Given the description of an element on the screen output the (x, y) to click on. 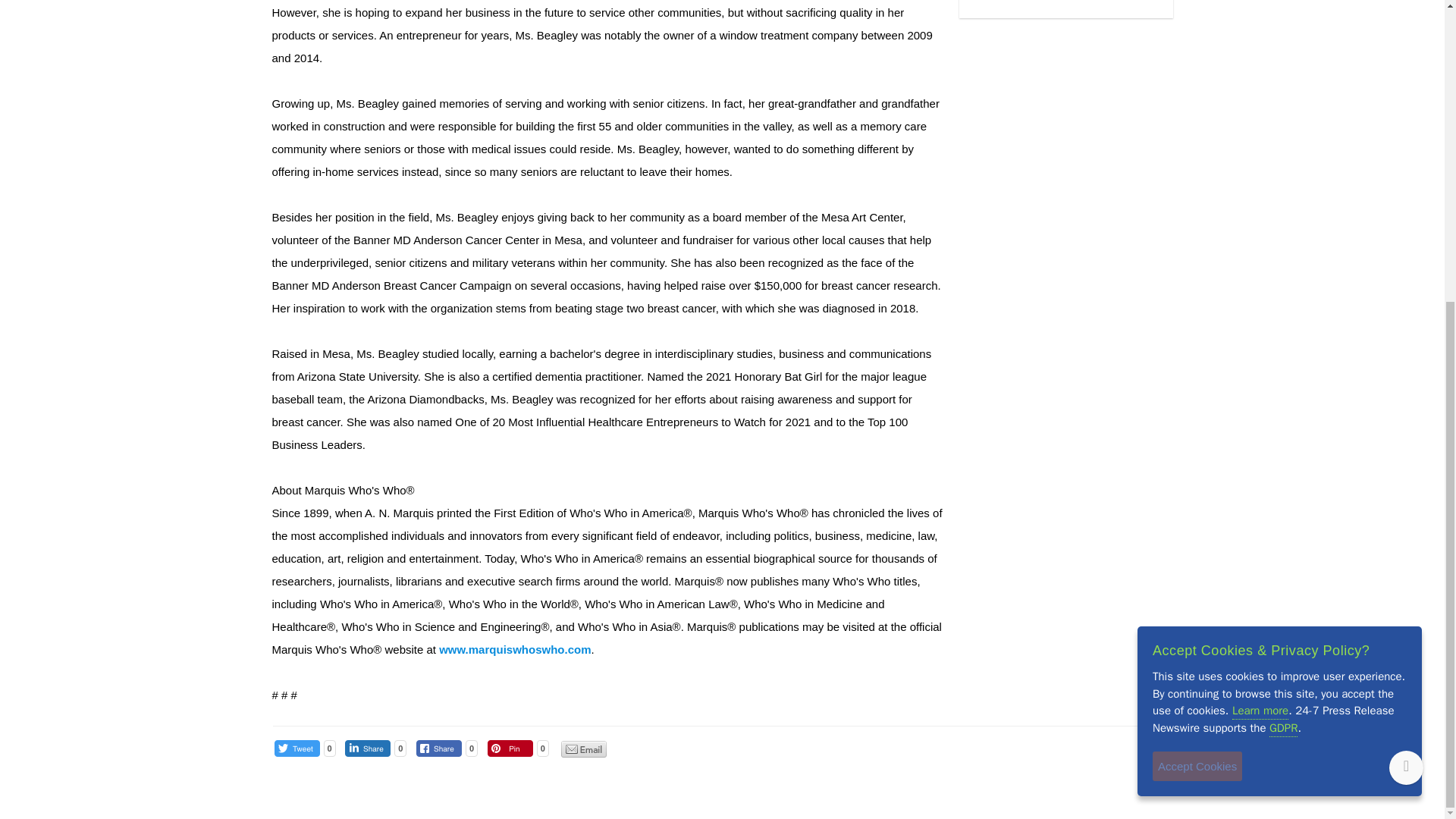
GDPR (1283, 258)
www.marquiswhoswho.com (515, 649)
Learn more (1259, 241)
Accept Cookies (1197, 296)
